Given the description of an element on the screen output the (x, y) to click on. 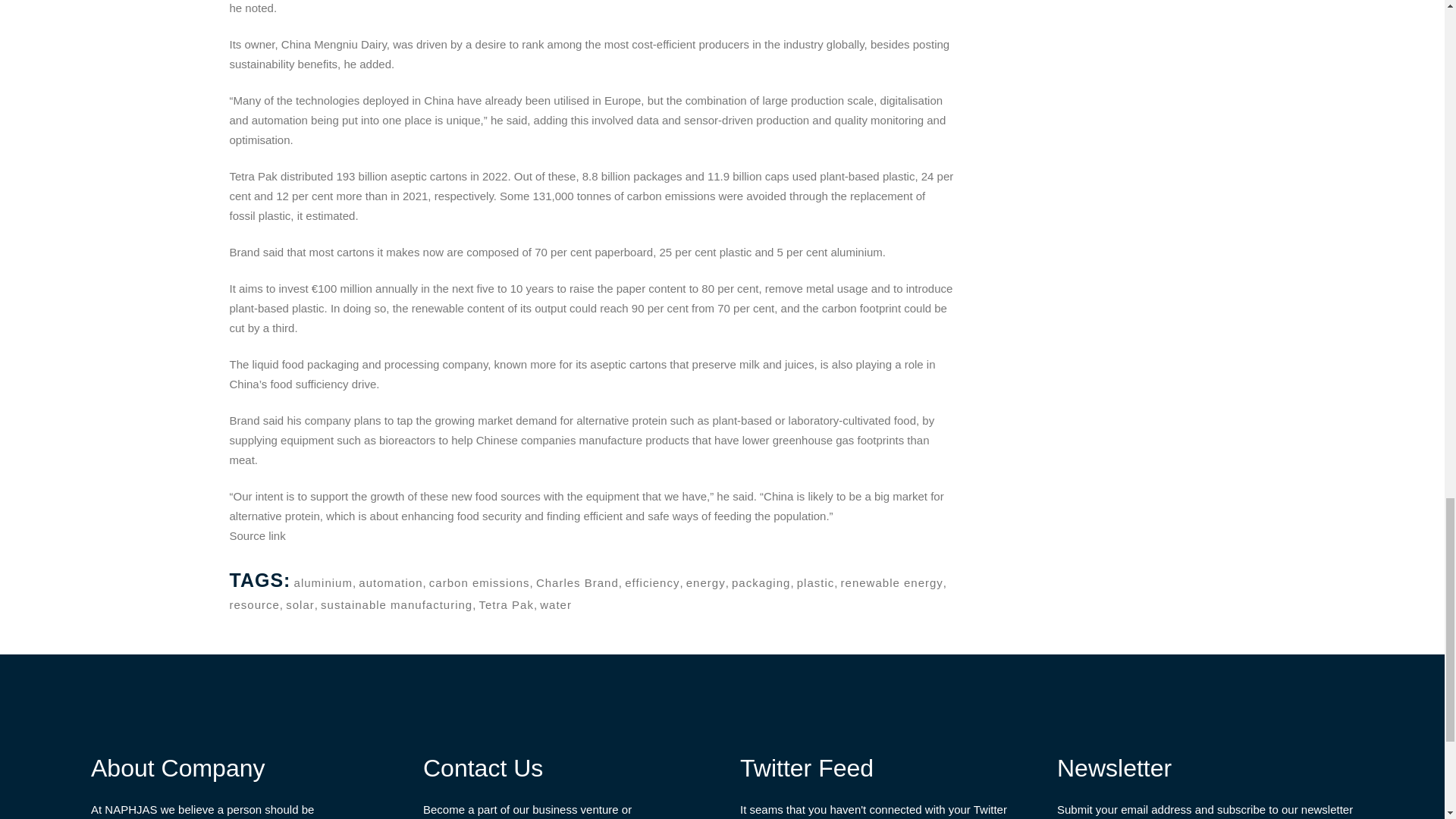
Charles Brand (576, 582)
aluminium (323, 582)
Source link (256, 535)
efficiency (651, 582)
energy (705, 582)
packaging (761, 582)
automation (390, 582)
carbon emissions (479, 582)
